Given the description of an element on the screen output the (x, y) to click on. 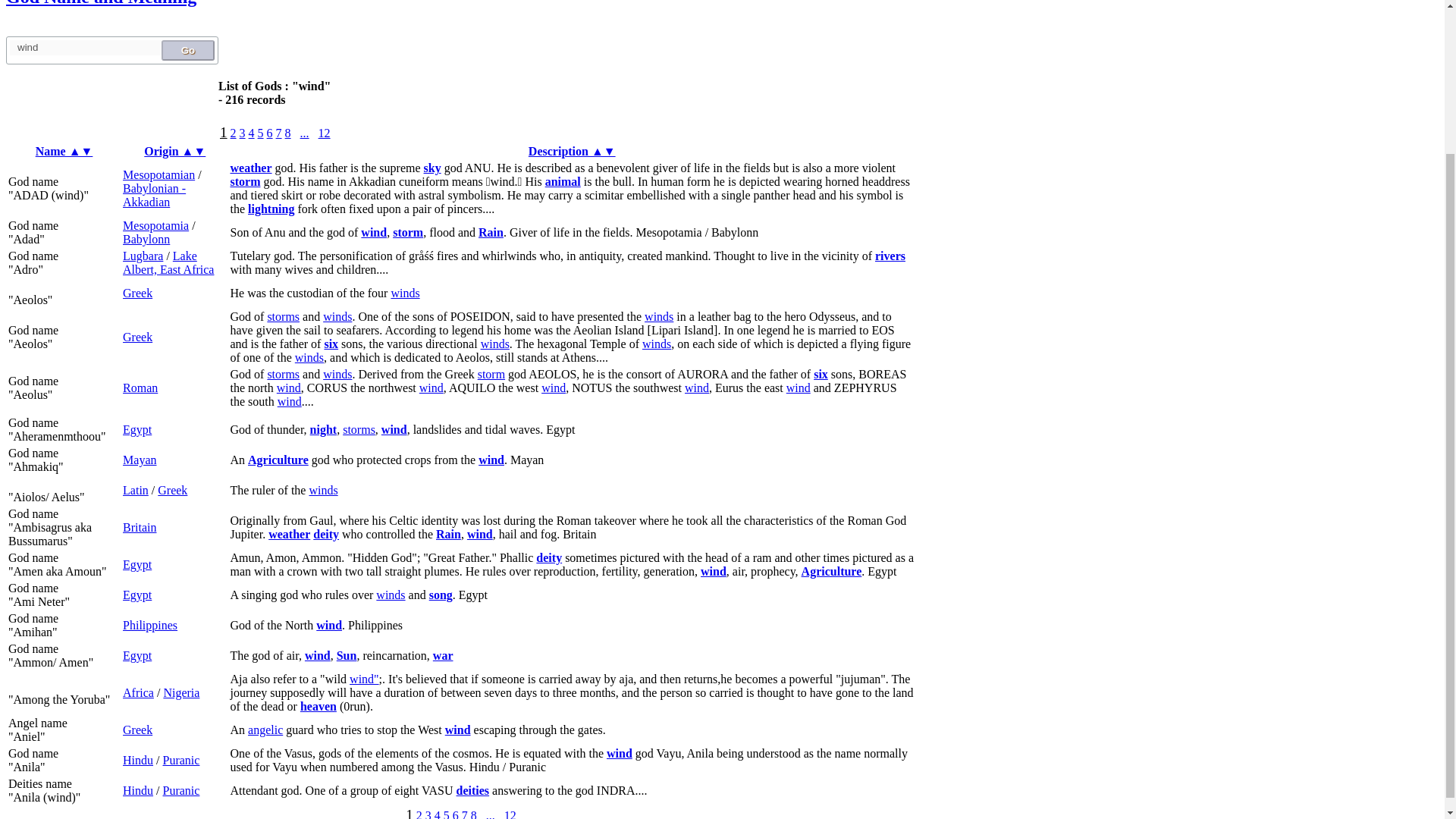
wind (337, 373)
wind (404, 292)
wind (288, 387)
storm (491, 373)
5 (260, 132)
8 (288, 132)
6 (269, 132)
wind (798, 387)
Go (187, 50)
storm (358, 429)
... (303, 132)
God Name and Meaning (100, 3)
wind (363, 678)
4 (251, 132)
wind (494, 343)
